Given the description of an element on the screen output the (x, y) to click on. 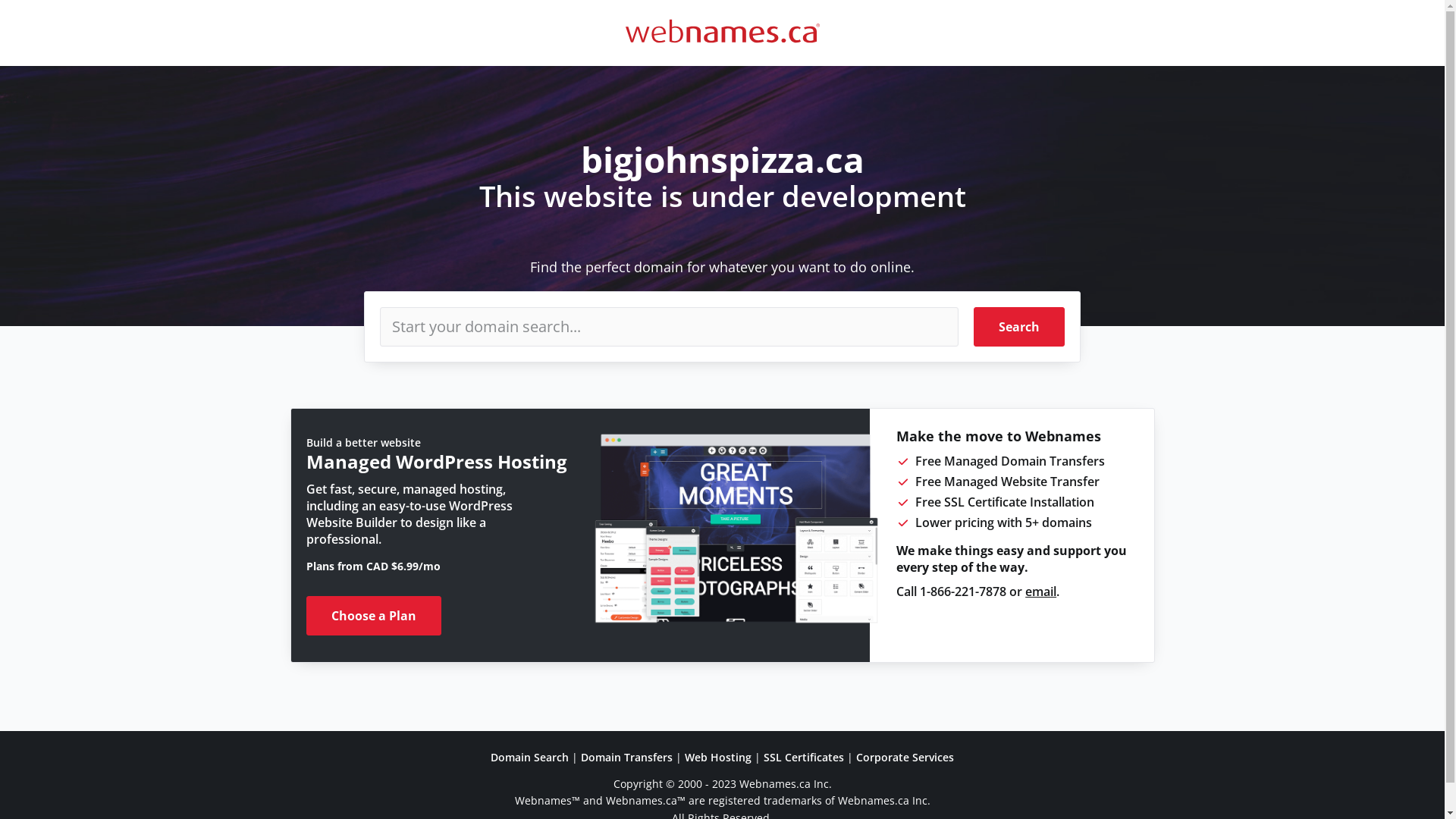
SSL Certificates Element type: text (803, 756)
Choose a Plan Element type: text (373, 615)
Web Hosting Element type: text (717, 756)
1-866-221-7878 Element type: text (962, 591)
Domain Search Element type: text (529, 756)
email Element type: text (1040, 591)
Corporate Services Element type: text (904, 756)
Domain Transfers Element type: text (626, 756)
Search Element type: text (1018, 326)
